Given the description of an element on the screen output the (x, y) to click on. 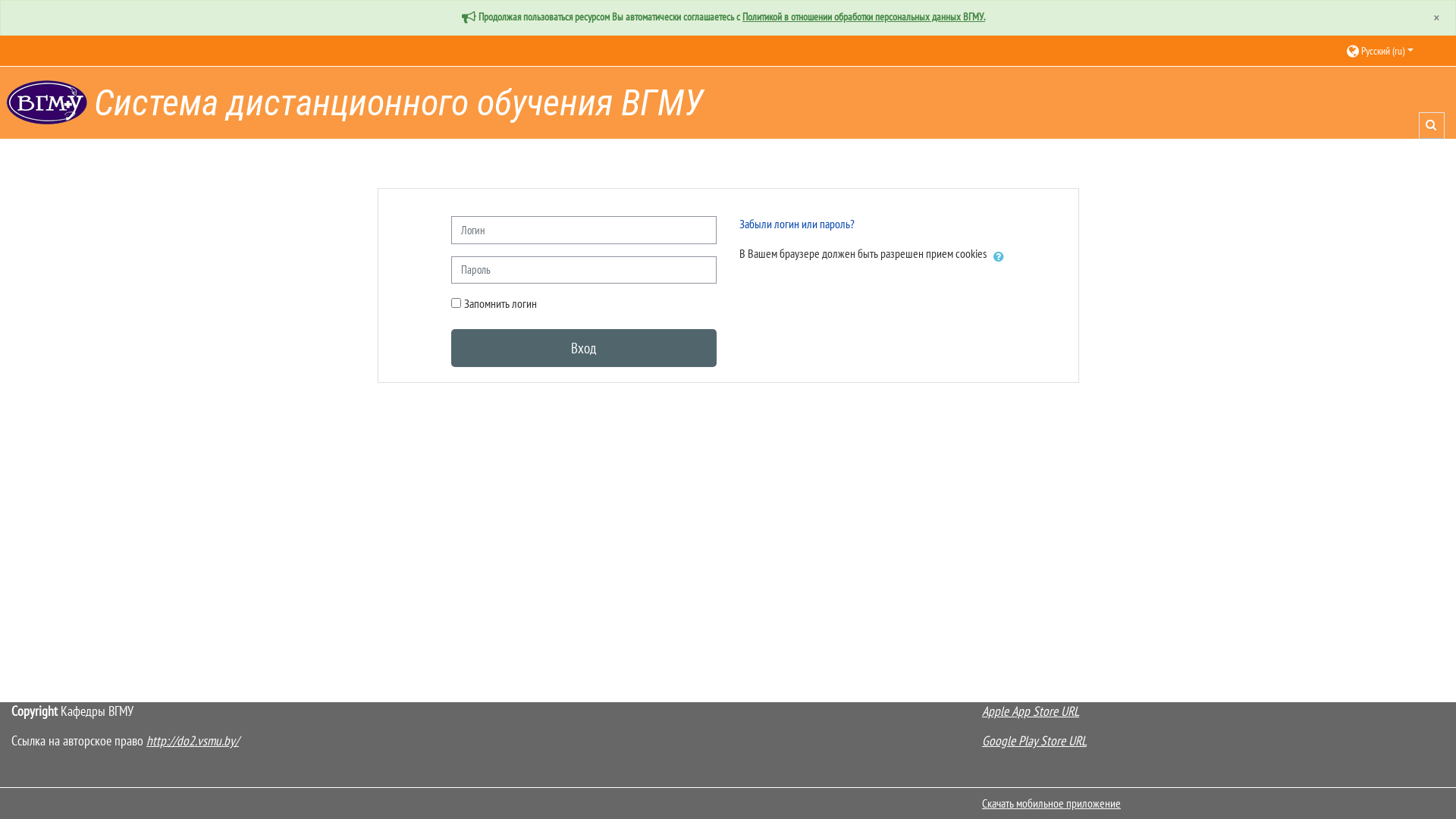
Apple App Store URL Element type: text (1030, 710)
Google Play Store URL Element type: text (1034, 740)
http://do2.vsmu.by/ Element type: text (192, 740)
